Given the description of an element on the screen output the (x, y) to click on. 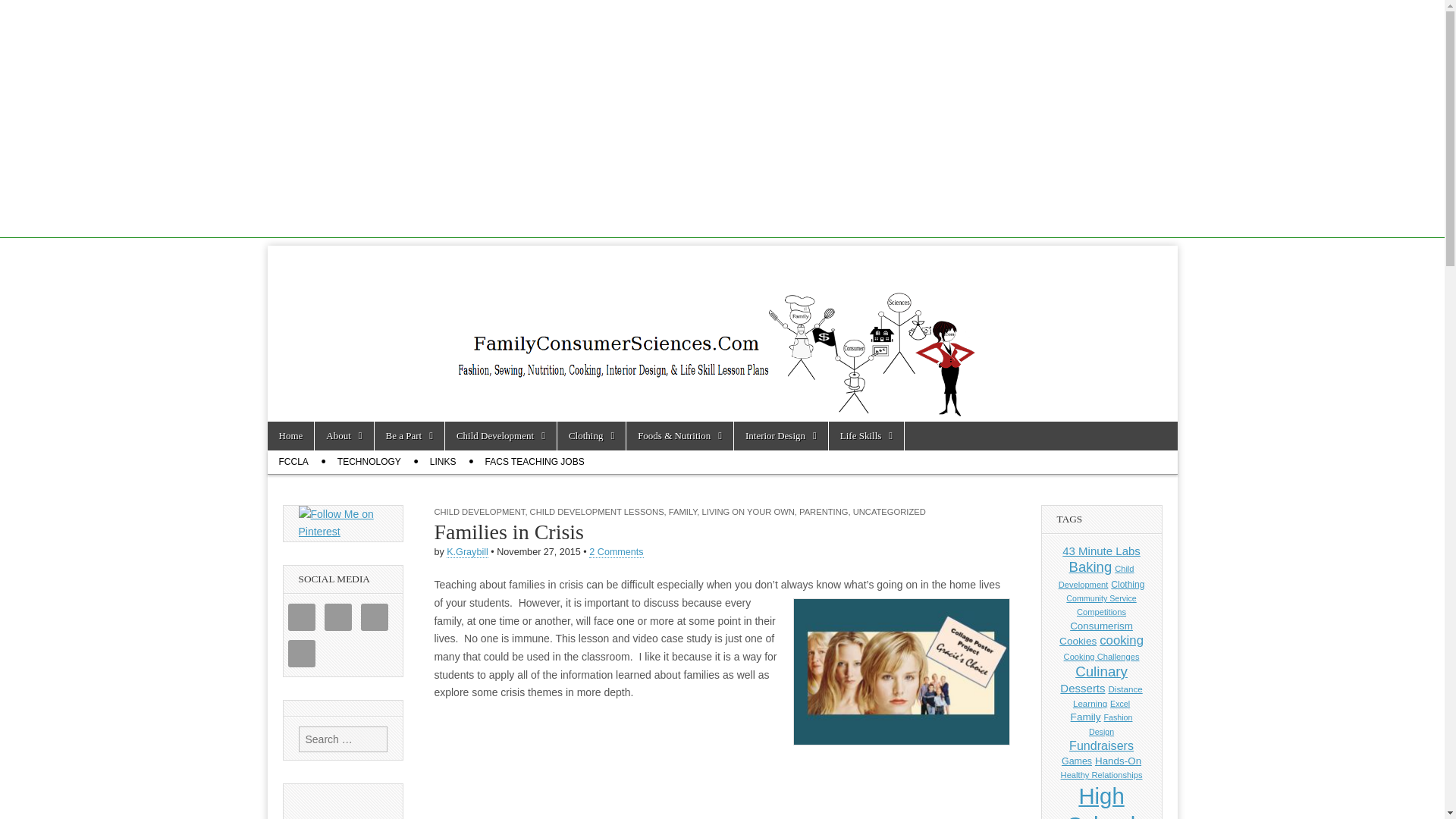
Child Development (500, 435)
FamilyConsumerSciences.com (507, 286)
About (343, 435)
Interior Design (780, 435)
Life Skills (866, 435)
Posts by K.Graybill (466, 552)
Advertisement (721, 789)
Home (290, 435)
Be a Part (409, 435)
